Given the description of an element on the screen output the (x, y) to click on. 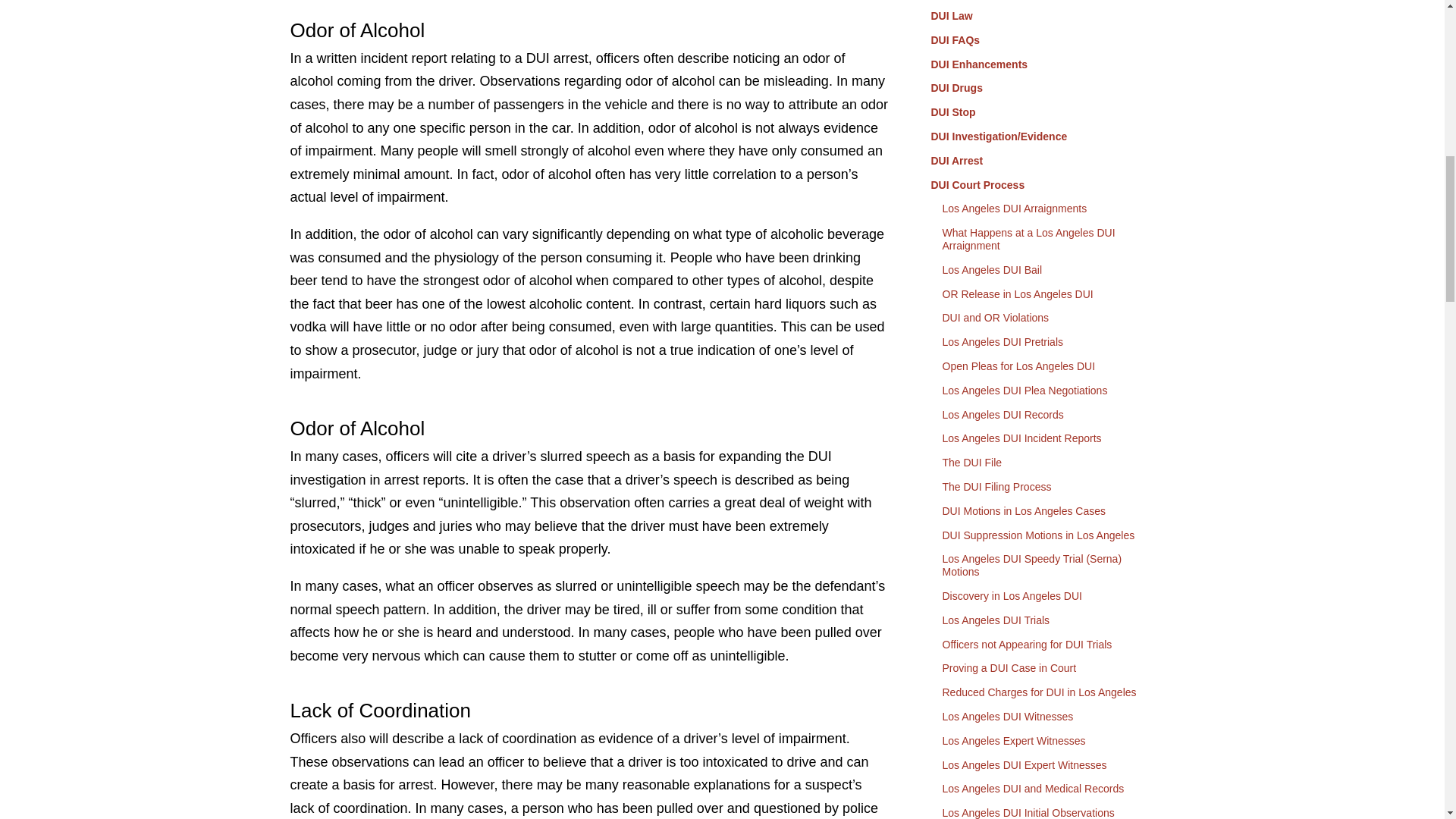
DUI Law (1044, 16)
DUI Enhancements (1044, 64)
DUI FAQs (1044, 39)
DUI Drugs (1044, 88)
DUI Stop (1044, 112)
